Given the description of an element on the screen output the (x, y) to click on. 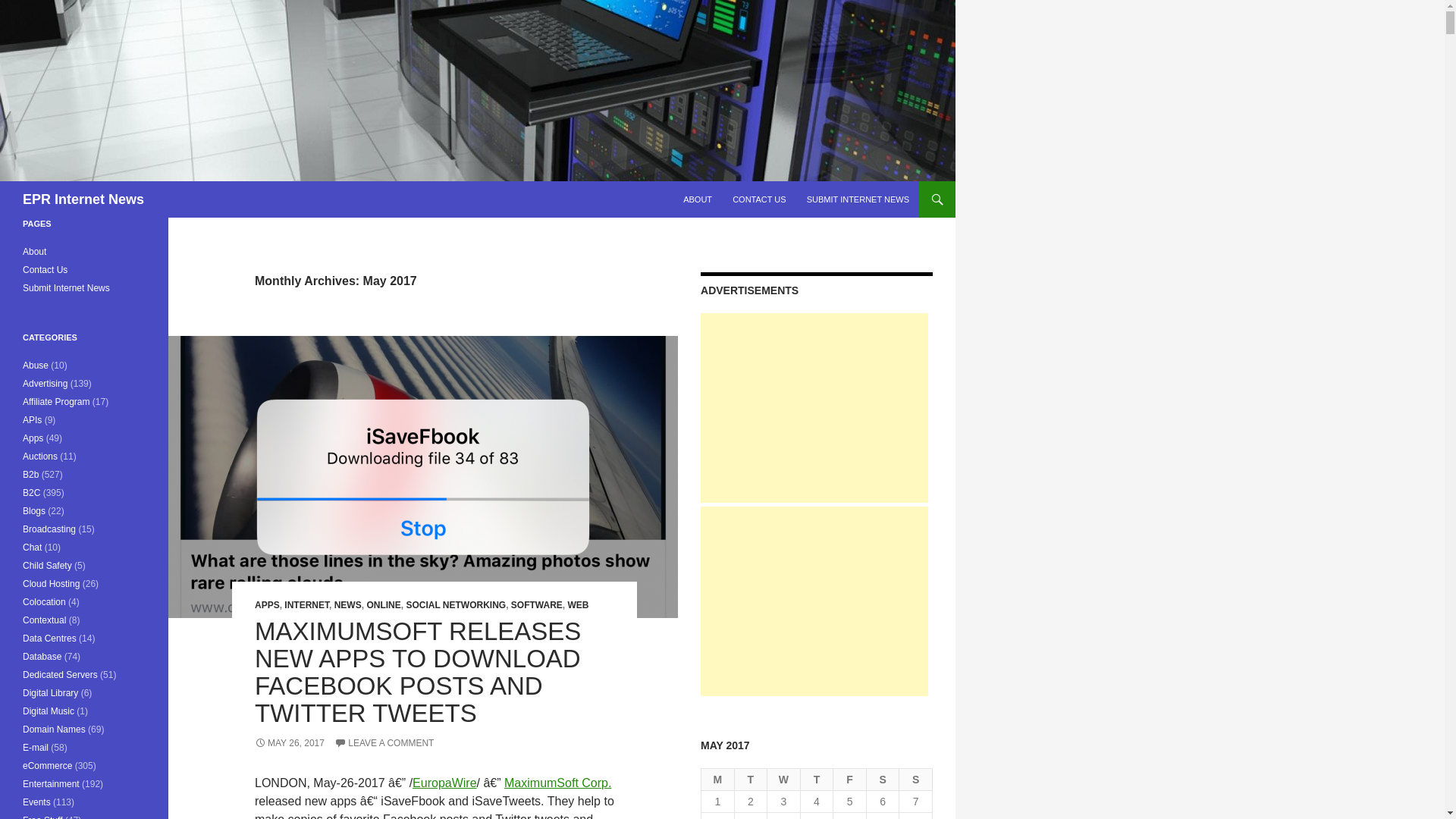
Monday (718, 780)
INTERNET (306, 604)
Saturday (882, 780)
MAY 26, 2017 (289, 742)
WEB (578, 604)
LEAVE A COMMENT (383, 742)
EPR Internet News (83, 199)
SUBMIT INTERNET NEWS (857, 198)
ABOUT (697, 198)
MaximumSoft Corp. (557, 782)
ONLINE (383, 604)
Advertisement (814, 407)
Tuesday (751, 780)
